Given the description of an element on the screen output the (x, y) to click on. 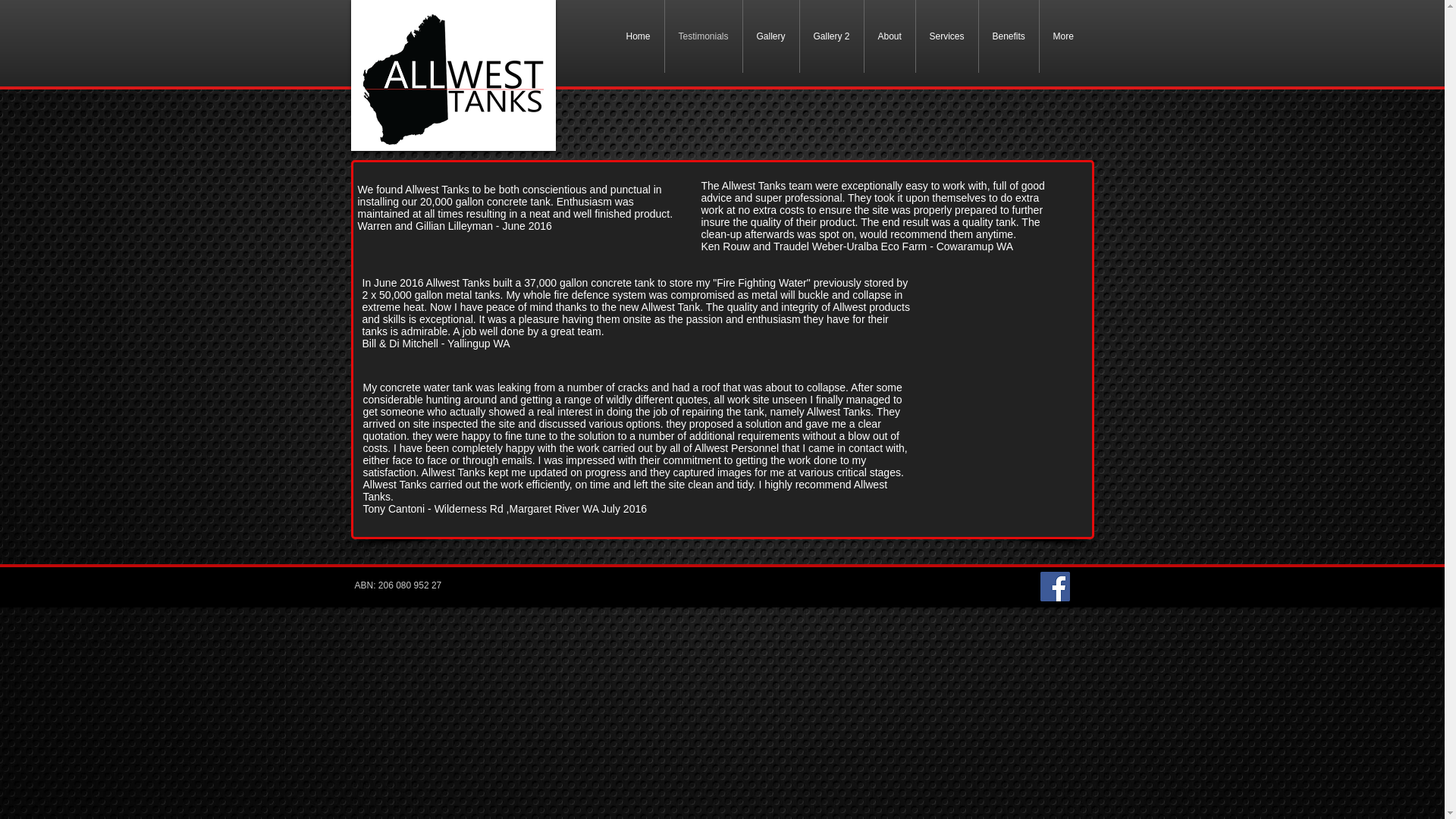
Testimonials (702, 36)
